Given the description of an element on the screen output the (x, y) to click on. 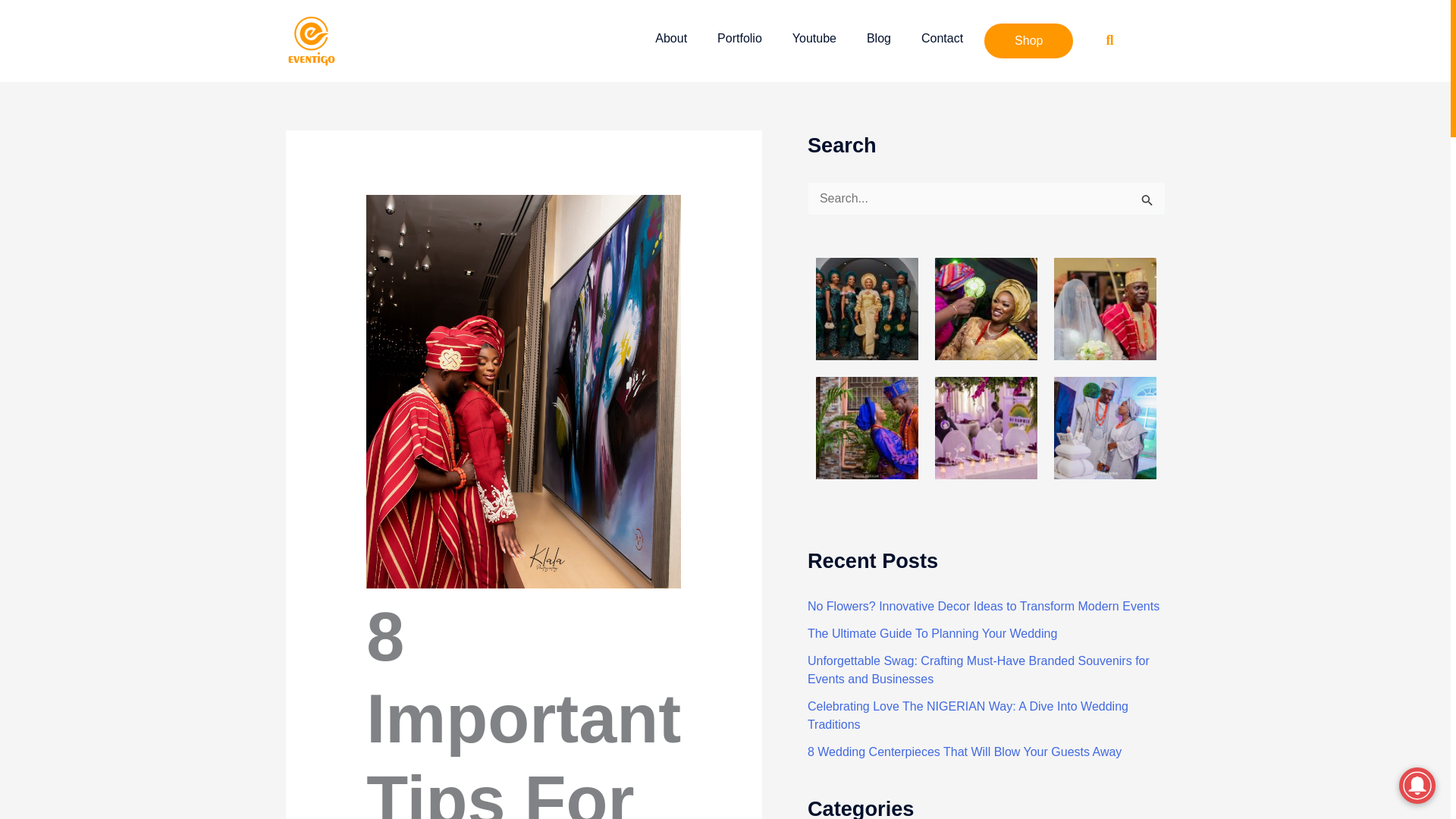
About (670, 38)
The Ultimate Guide To Planning Your Wedding (932, 633)
Contact (942, 38)
Search (1148, 202)
Youtube (813, 38)
Portfolio (739, 38)
Search (1148, 202)
Search (1148, 202)
Blog (879, 38)
Shop (1028, 40)
